Given the description of an element on the screen output the (x, y) to click on. 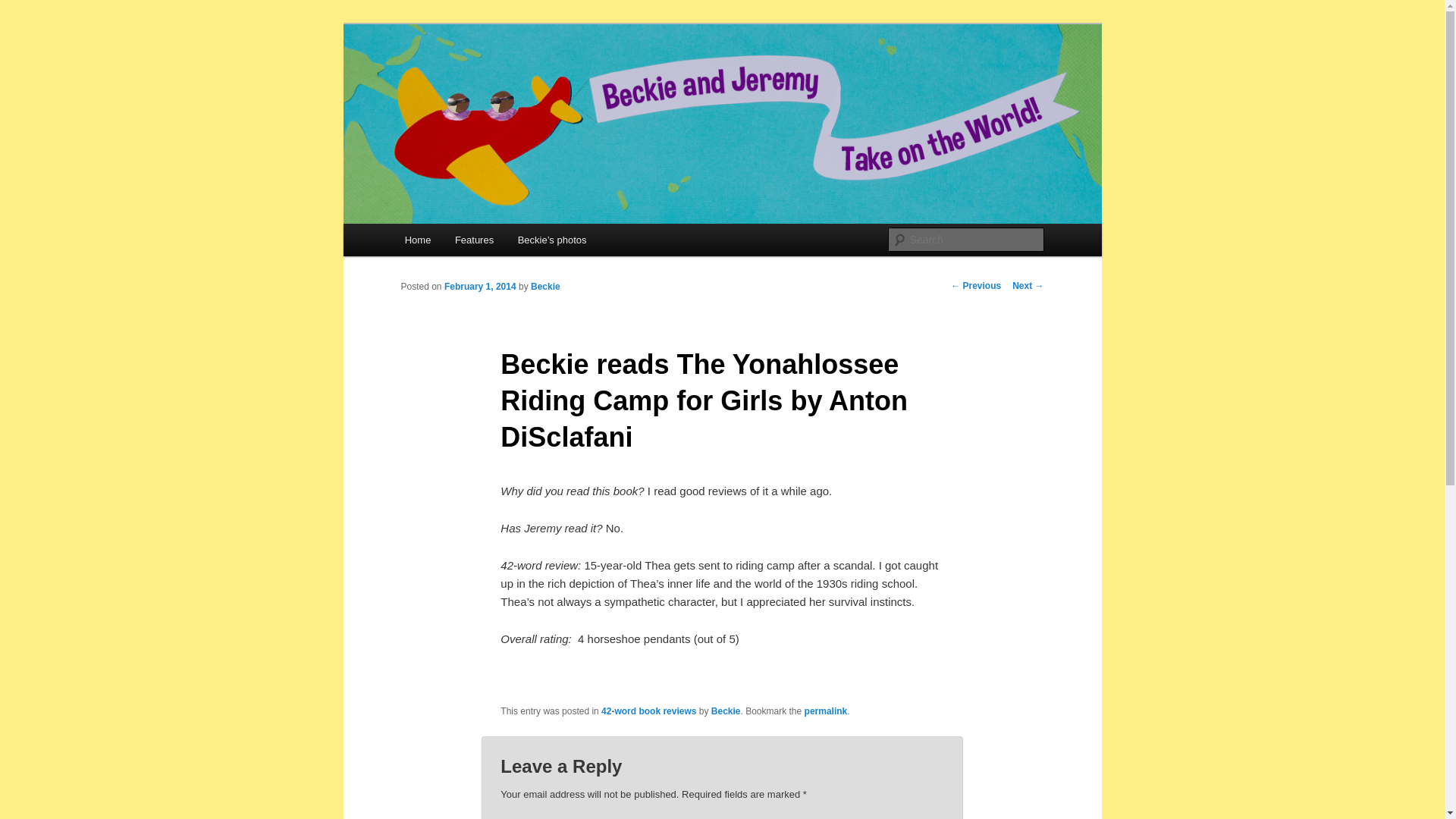
Beckie and Jeremy Take on the World! (607, 78)
11:00 am (480, 286)
Beckie (545, 286)
Beckie (726, 710)
View all posts by Beckie (545, 286)
February 1, 2014 (480, 286)
Features (473, 239)
Search (24, 8)
Home (417, 239)
permalink (826, 710)
42-word book reviews (648, 710)
